Given the description of an element on the screen output the (x, y) to click on. 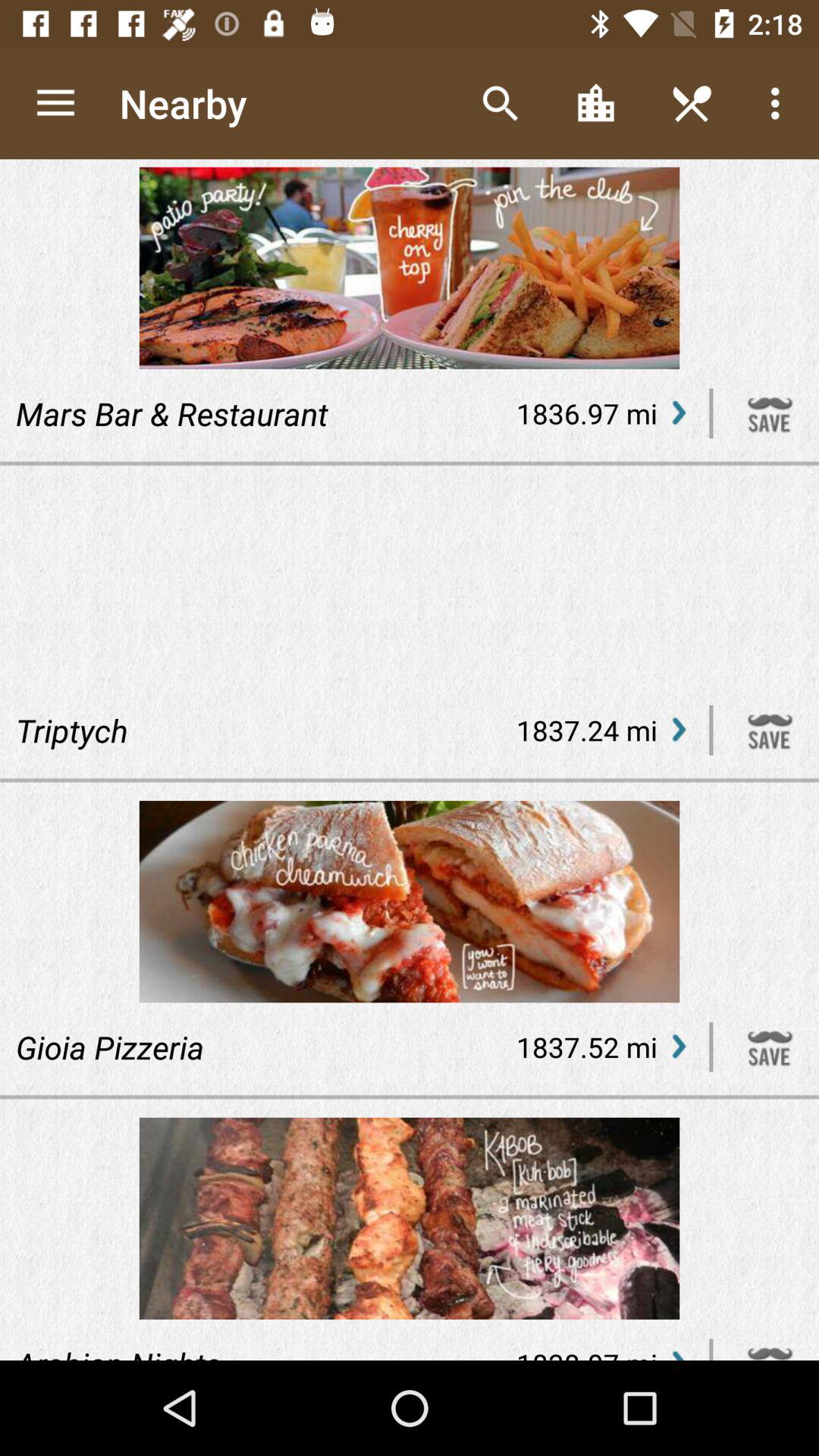
save button (770, 1046)
